Given the description of an element on the screen output the (x, y) to click on. 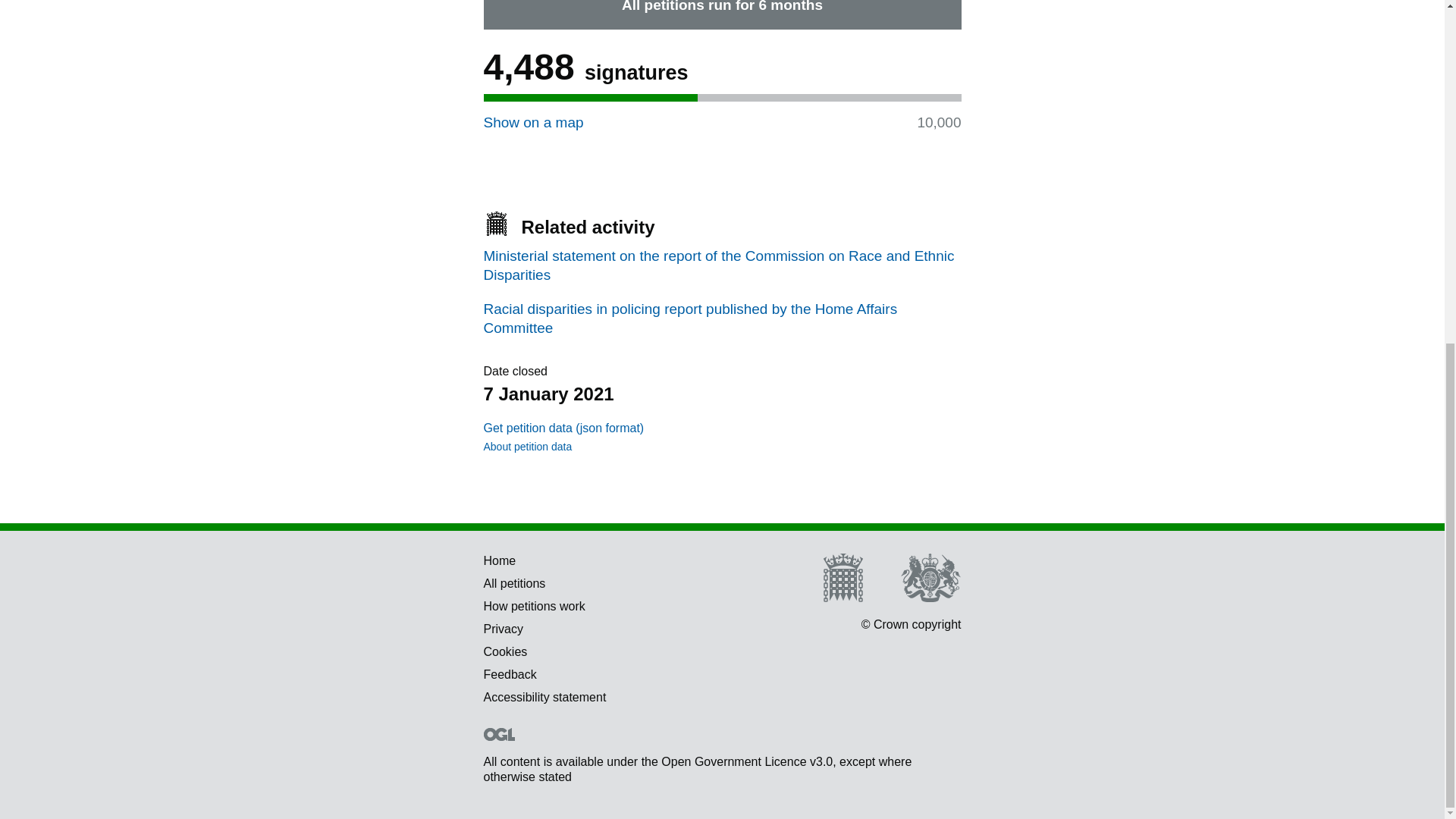
Feedback (510, 674)
Cookies (505, 651)
Home (499, 560)
Open Government Licence v3.0 (746, 761)
Open Government Licence (499, 734)
All petitions (514, 583)
Accessibility statement (545, 697)
Show on a map (533, 122)
How petitions work (534, 605)
Privacy (502, 628)
